Given the description of an element on the screen output the (x, y) to click on. 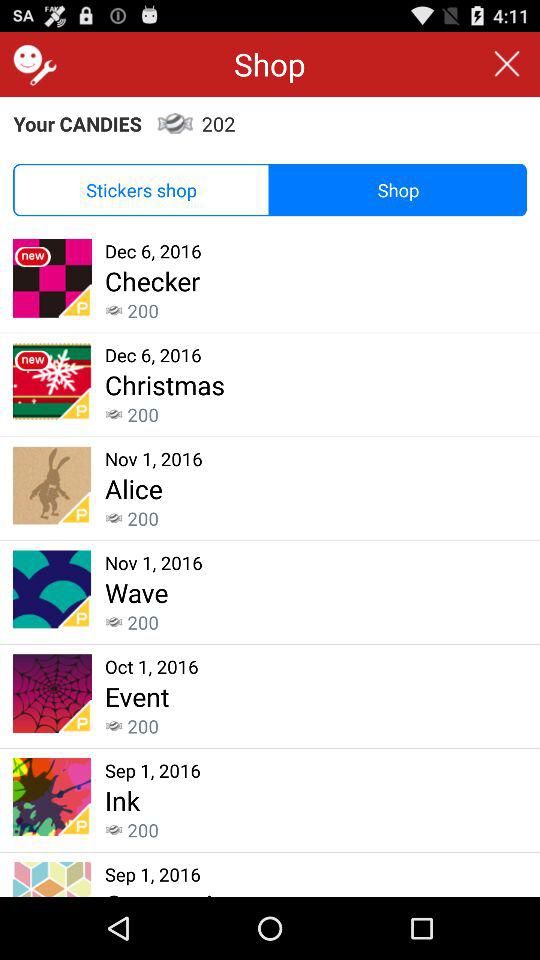
select the logo of the second block (51, 382)
